Given the description of an element on the screen output the (x, y) to click on. 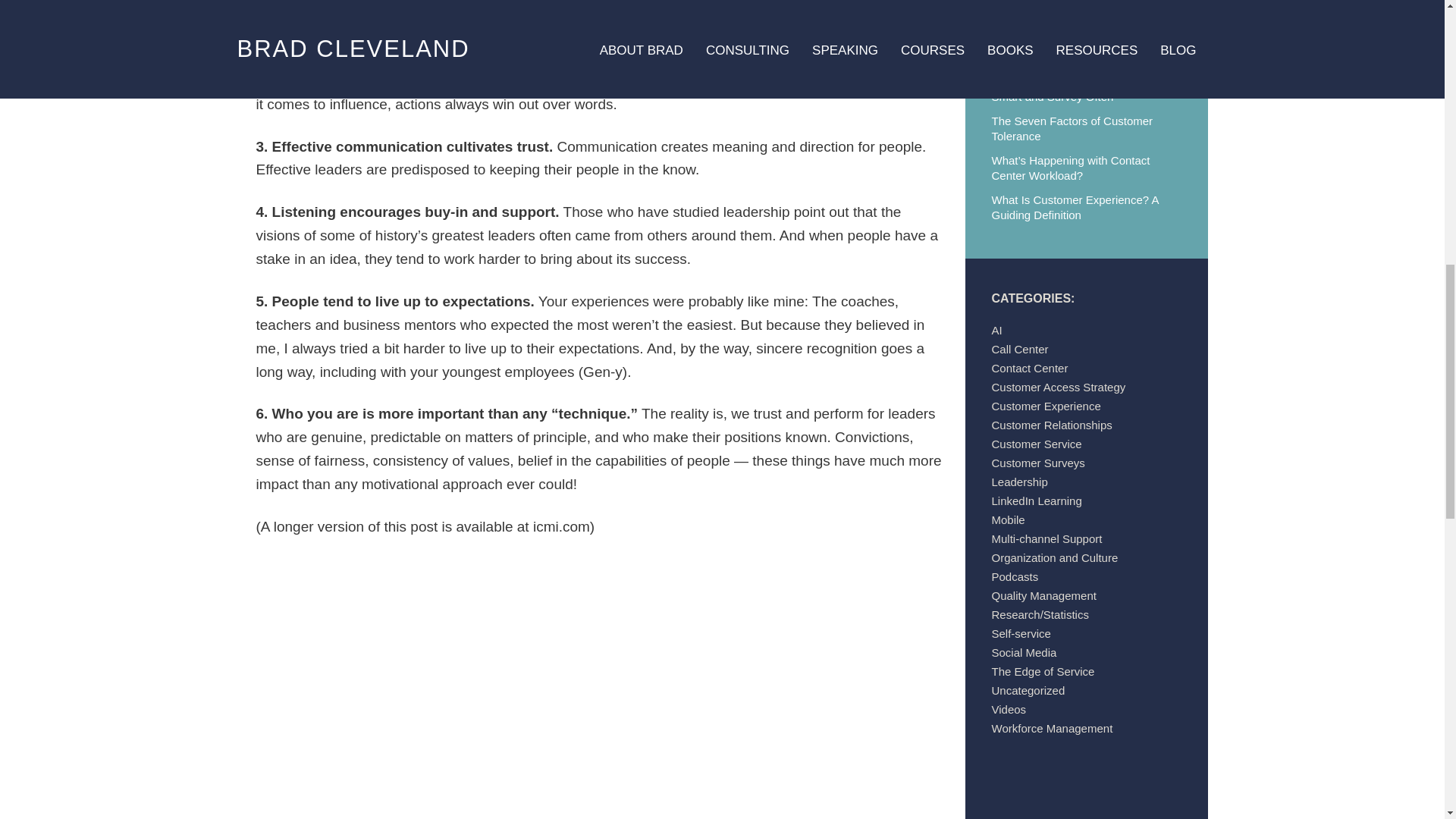
Customer Surveys (1037, 462)
Mobile (1008, 519)
Customer Service (1036, 443)
Leadership (1019, 481)
Call Center (1019, 349)
Contact Center (1029, 367)
Using AI in Customer Service: Steps for Seamless Integration (1082, 49)
The Seven Factors of Customer Tolerance (1072, 128)
Listen to Your Employees: Survey Smart and Survey Often (1076, 89)
Customer Relationships (1051, 424)
LinkedIn Learning (1036, 500)
Customer Experience (1045, 405)
What Is Customer Experience? A Guiding Definition (1074, 207)
Customer Access Strategy (1058, 386)
